Given the description of an element on the screen output the (x, y) to click on. 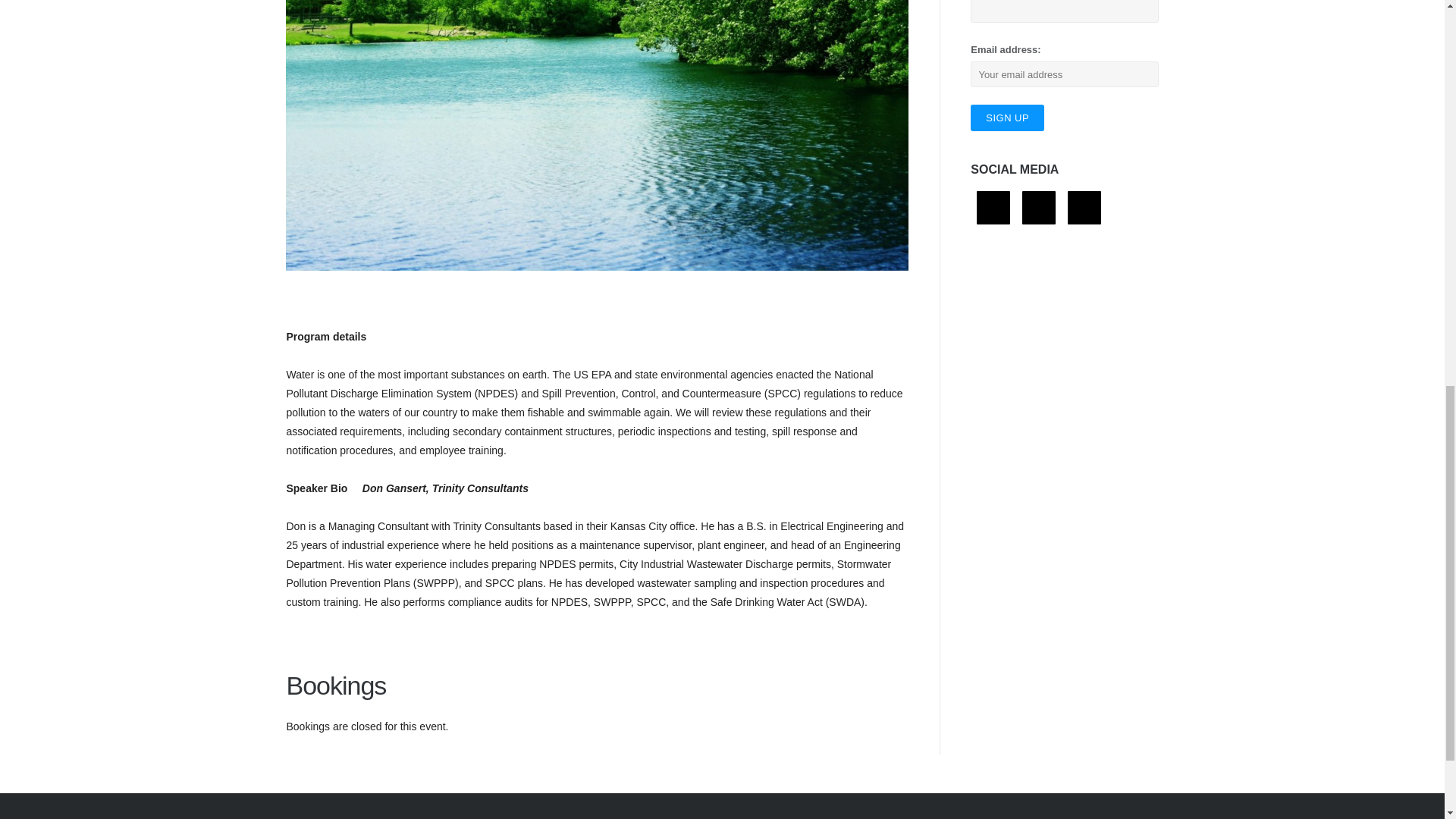
Sign up (1007, 117)
Sign up (1007, 117)
